Given the description of an element on the screen output the (x, y) to click on. 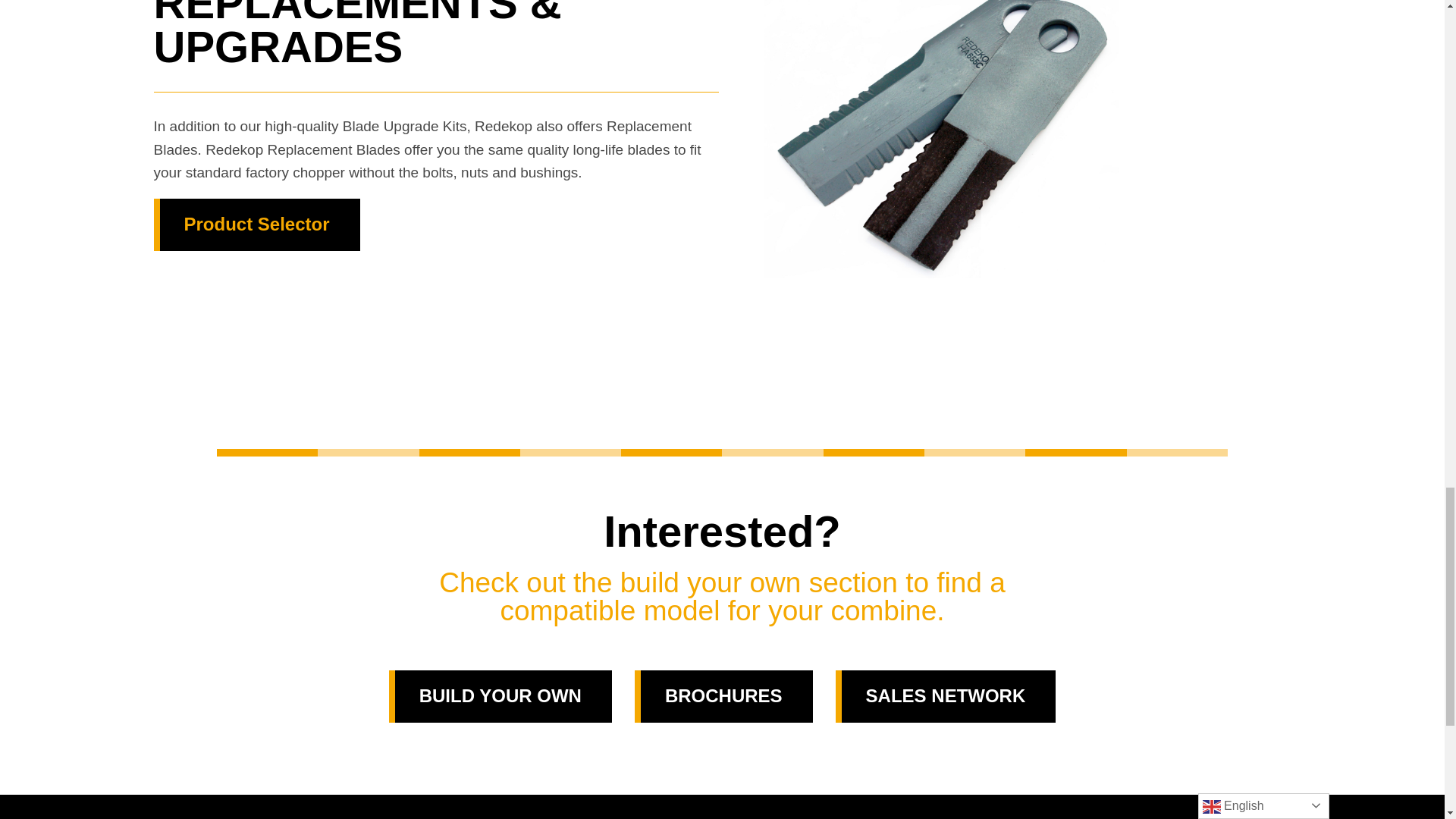
BROCHURES (723, 695)
Product Selector (255, 224)
SALES NETWORK (946, 695)
BUILD YOUR OWN (499, 695)
